Given the description of an element on the screen output the (x, y) to click on. 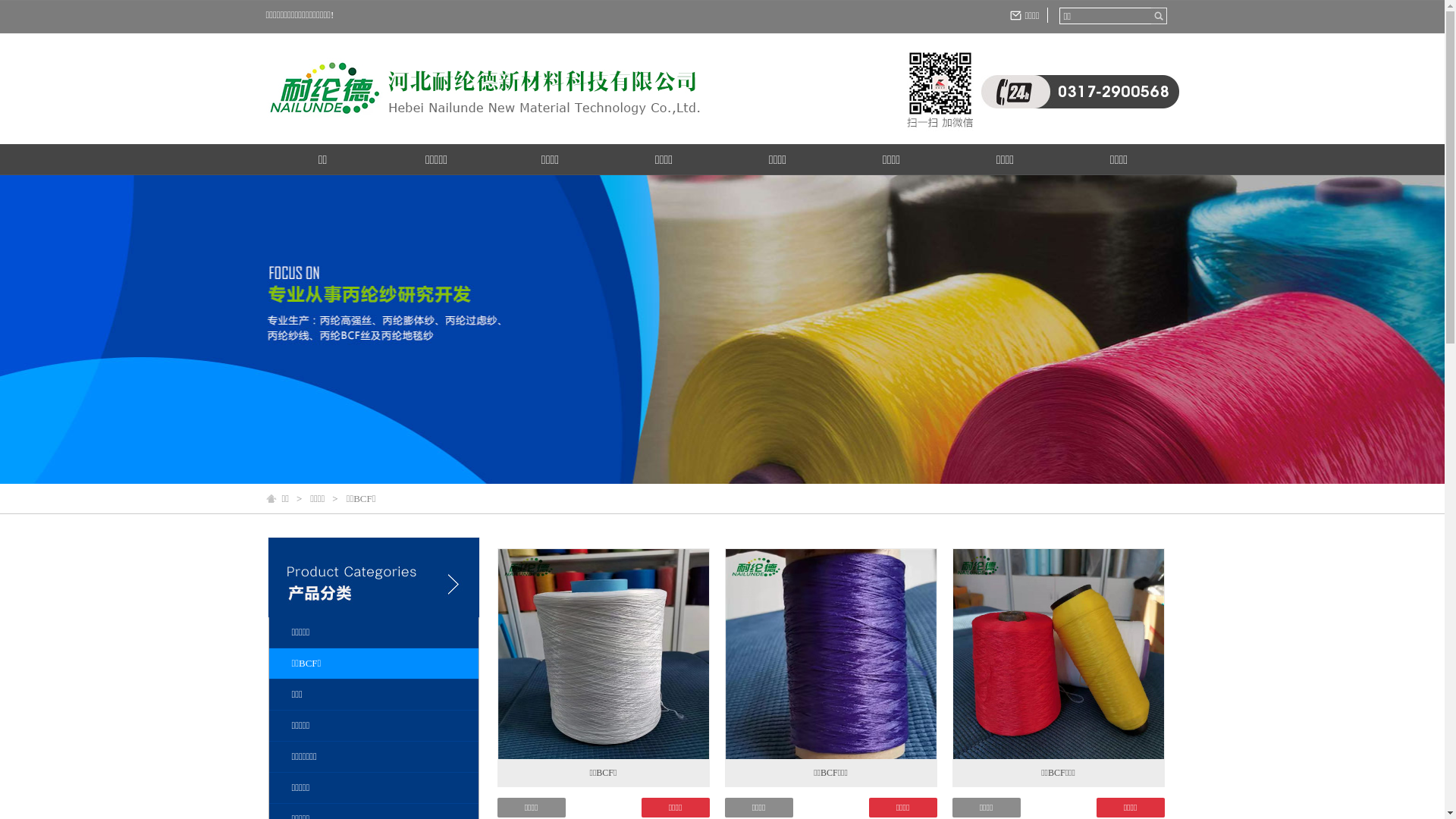
Product Element type: hover (373, 607)
